Given the description of an element on the screen output the (x, y) to click on. 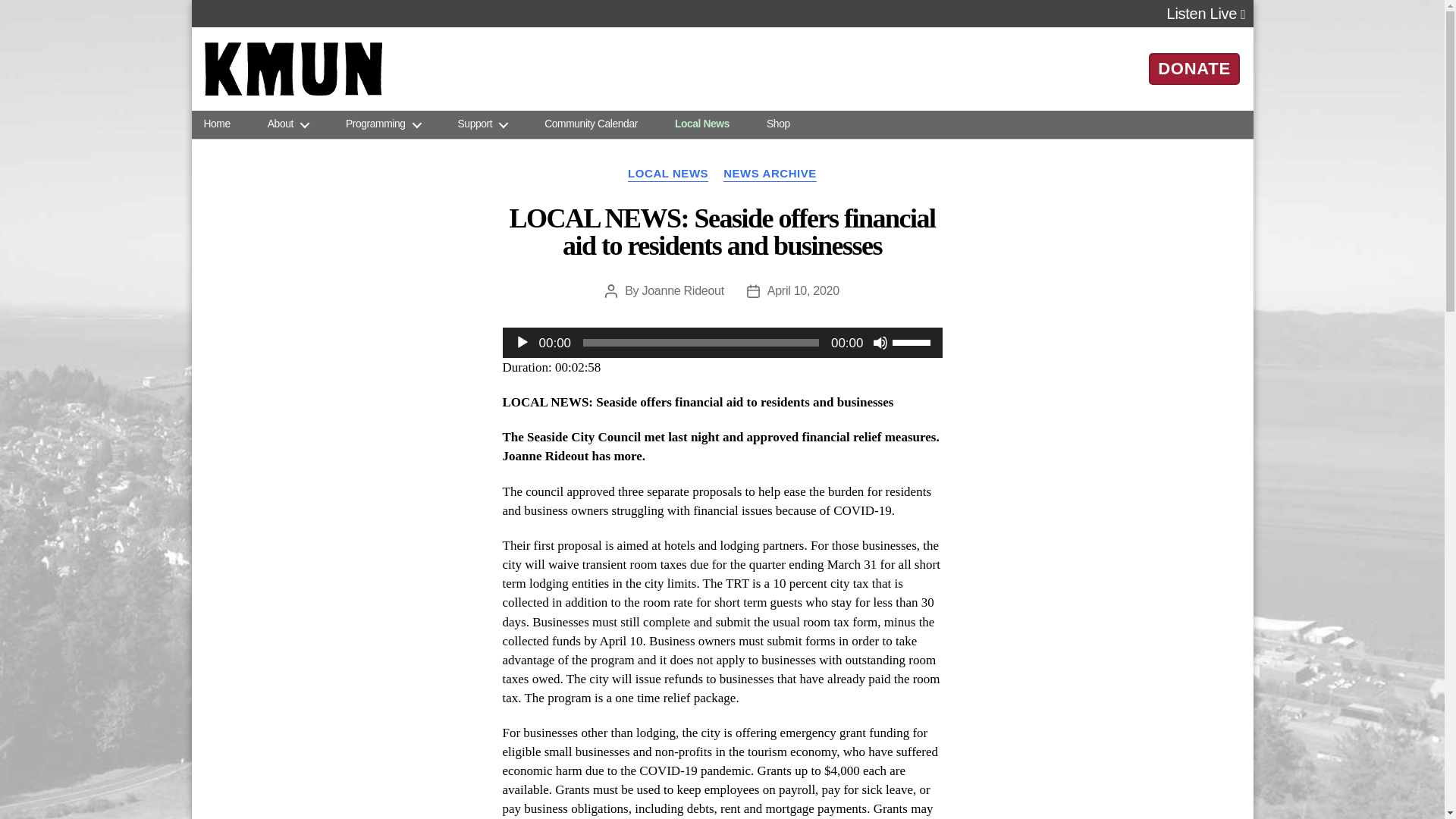
Home (216, 124)
Shop (778, 124)
Listen Live (1206, 13)
About (287, 124)
Local News (702, 124)
Programming (383, 124)
DONATE (1193, 67)
Community Calendar (590, 124)
Play (521, 342)
Mute (879, 342)
